Given the description of an element on the screen output the (x, y) to click on. 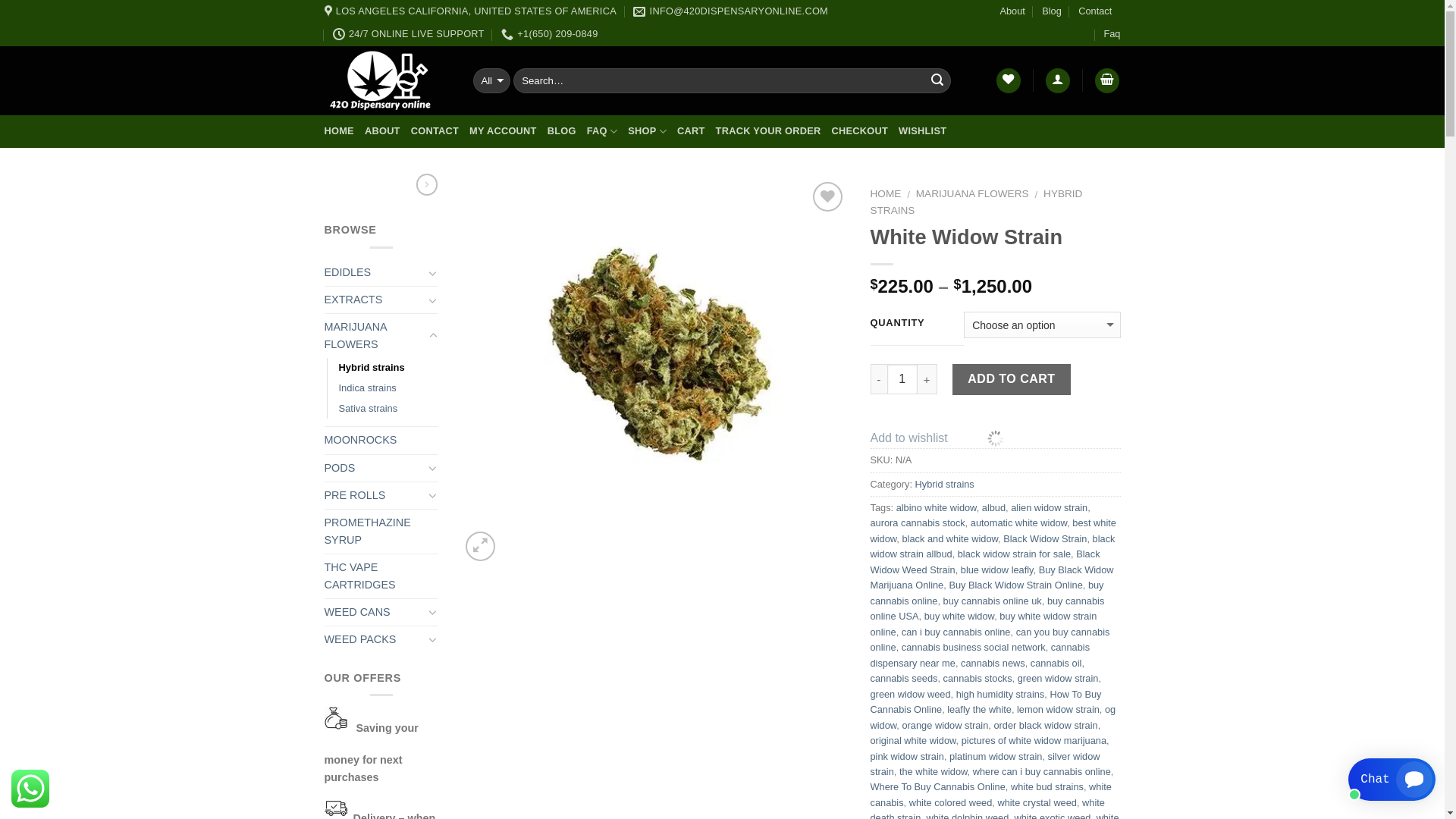
blue widow leafly Element type: text (996, 569)
Add to wishlist Element type: text (908, 437)
can i buy cannabis online Element type: text (955, 631)
About Element type: text (1011, 11)
alien widow strain Element type: text (1048, 507)
HOME Element type: text (339, 131)
pink widow strain Element type: text (907, 756)
How To Buy Cannabis Online Element type: text (985, 701)
Sativa strains Element type: text (367, 408)
CONTACT Element type: text (434, 131)
automatic white widow Element type: text (1018, 522)
WEED CANS Element type: text (373, 612)
cannabis business social network Element type: text (973, 646)
Black Widow Strain Element type: text (1044, 538)
PRE ROLLS Element type: text (373, 495)
where can i buy cannabis online Element type: text (1041, 771)
CHECKOUT Element type: text (859, 131)
MARIJUANA FLOWERS Element type: text (373, 335)
Buy Black Widow Strain Online Element type: text (1015, 584)
Hybrid strains Element type: text (944, 483)
Black Widow Weed Strain Element type: text (985, 561)
leafly the white Element type: text (979, 709)
Smartsupp widget button Element type: hover (1391, 779)
EDIDLES Element type: text (373, 272)
cannabis stocks Element type: text (977, 678)
white bud strains Element type: text (1046, 786)
Hybrid strains Element type: text (371, 367)
PODS Element type: text (373, 468)
BLOG Element type: text (561, 131)
albino white widow Element type: text (936, 507)
Blog Element type: text (1051, 11)
24/7 ONLINE LIVE SUPPORT Element type: text (408, 33)
orange widow strain Element type: text (944, 725)
black and white widow Element type: text (949, 538)
PROMETHAZINE SYRUP Element type: text (381, 531)
pictures of white widow marijuana Element type: text (1033, 740)
EXTRACTS Element type: text (373, 299)
white canabis Element type: text (990, 794)
MARIJUANA FLOWERS Element type: text (972, 193)
MOONROCKS Element type: text (381, 439)
Faq Element type: text (1111, 33)
buy cannabis online Element type: text (987, 592)
buy white widow strain online Element type: text (983, 623)
can you buy cannabis online Element type: text (990, 639)
HYBRID STRAINS Element type: text (976, 202)
white crystal weed Element type: text (1036, 802)
green widow weed Element type: text (910, 693)
Qty Element type: hover (902, 379)
cannabis news Element type: text (992, 662)
aurora cannabis stock Element type: text (917, 522)
green widow strain Element type: text (1057, 678)
high humidity strains Element type: text (1000, 693)
Contact Element type: text (1094, 11)
black widow strain for sale Element type: text (1013, 553)
albud Element type: text (993, 507)
Buy Black Widow Marijuana Online Element type: text (991, 577)
buy cannabis online uk Element type: text (992, 600)
HOME Element type: text (885, 193)
cannabis seeds Element type: text (904, 678)
WISHLIST Element type: text (922, 131)
LOS ANGELES CALIFORNIA, UNITED STATES OF AMERICA Element type: text (470, 11)
buy cannabis online USA Element type: text (987, 608)
cannabis oil Element type: text (1056, 662)
silver widow strain Element type: text (985, 763)
WEED PACKS Element type: text (373, 639)
Indica strains Element type: text (366, 388)
ABOUT Element type: text (382, 131)
TRACK YOUR ORDER Element type: text (768, 131)
CART Element type: text (691, 131)
best white widow Element type: text (993, 530)
order black widow strain Element type: text (1045, 725)
THC VAPE CARTRIDGES Element type: text (381, 576)
FAQ Element type: text (602, 131)
og widow Element type: text (993, 716)
Cart Element type: hover (1107, 80)
cannabis dispensary near me Element type: text (980, 654)
lemon widow strain Element type: text (1057, 709)
SHOP Element type: text (646, 131)
420 Dispensary Online - The best online dispensary store Element type: hover (387, 80)
black widow strain allbud Element type: text (992, 546)
white colored weed Element type: text (950, 802)
ADD TO CART Element type: text (1011, 379)
original white widow Element type: text (913, 740)
buy white widow Element type: text (959, 615)
Where To Buy Cannabis Online Element type: text (937, 786)
the white widow Element type: text (933, 771)
MY ACCOUNT Element type: text (502, 131)
INFO@420DISPENSARYONLINE.COM Element type: text (730, 11)
platinum widow strain Element type: text (995, 756)
